Given the description of an element on the screen output the (x, y) to click on. 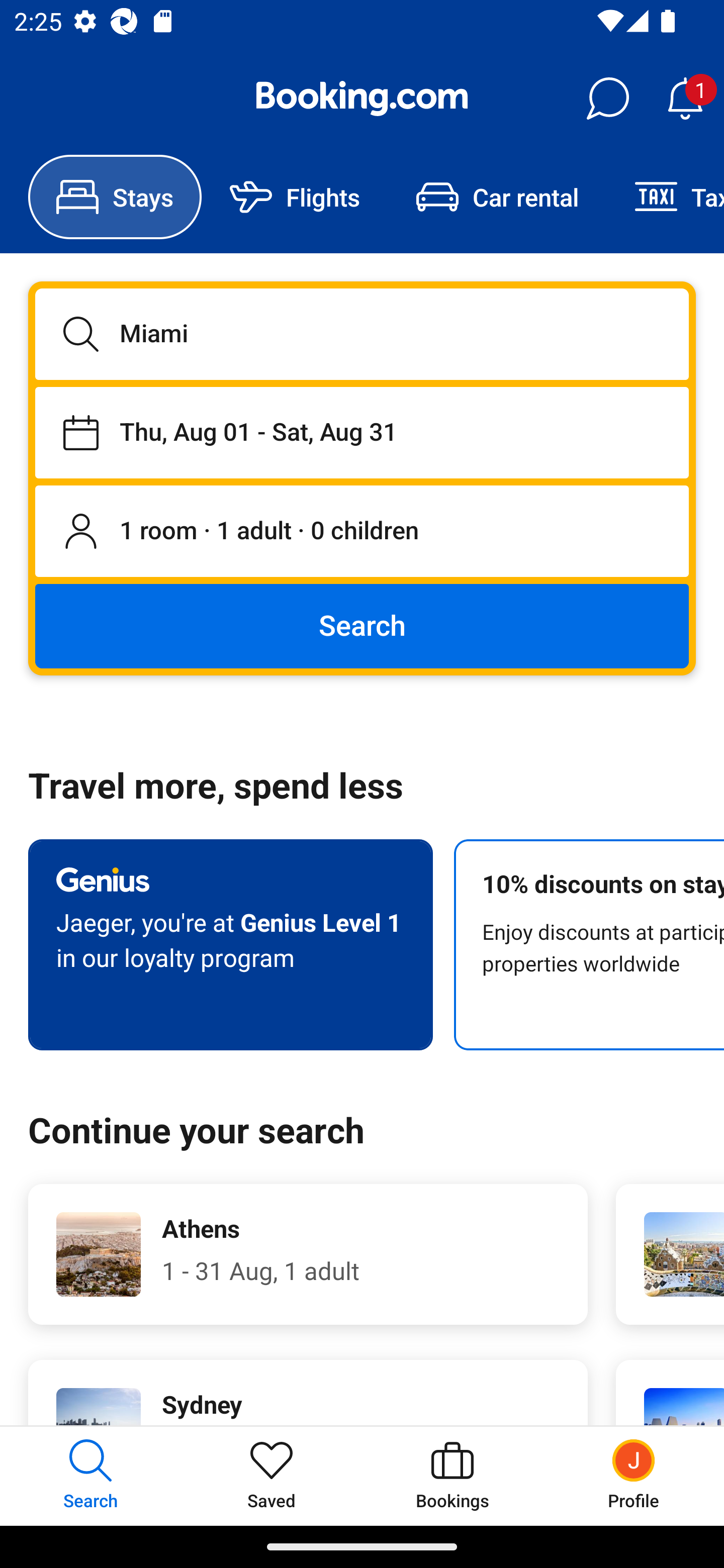
Messages (607, 98)
Notifications (685, 98)
Stays (114, 197)
Flights (294, 197)
Car rental (497, 197)
Taxi (665, 197)
Miami (361, 333)
Staying from Thu, Aug 01 until Sat, Aug 31 (361, 432)
1 room, 1 adult, 0 children (361, 531)
Search (361, 625)
Athens 1 - 31 Aug, 1 adult (307, 1253)
Saved (271, 1475)
Bookings (452, 1475)
Profile (633, 1475)
